Given the description of an element on the screen output the (x, y) to click on. 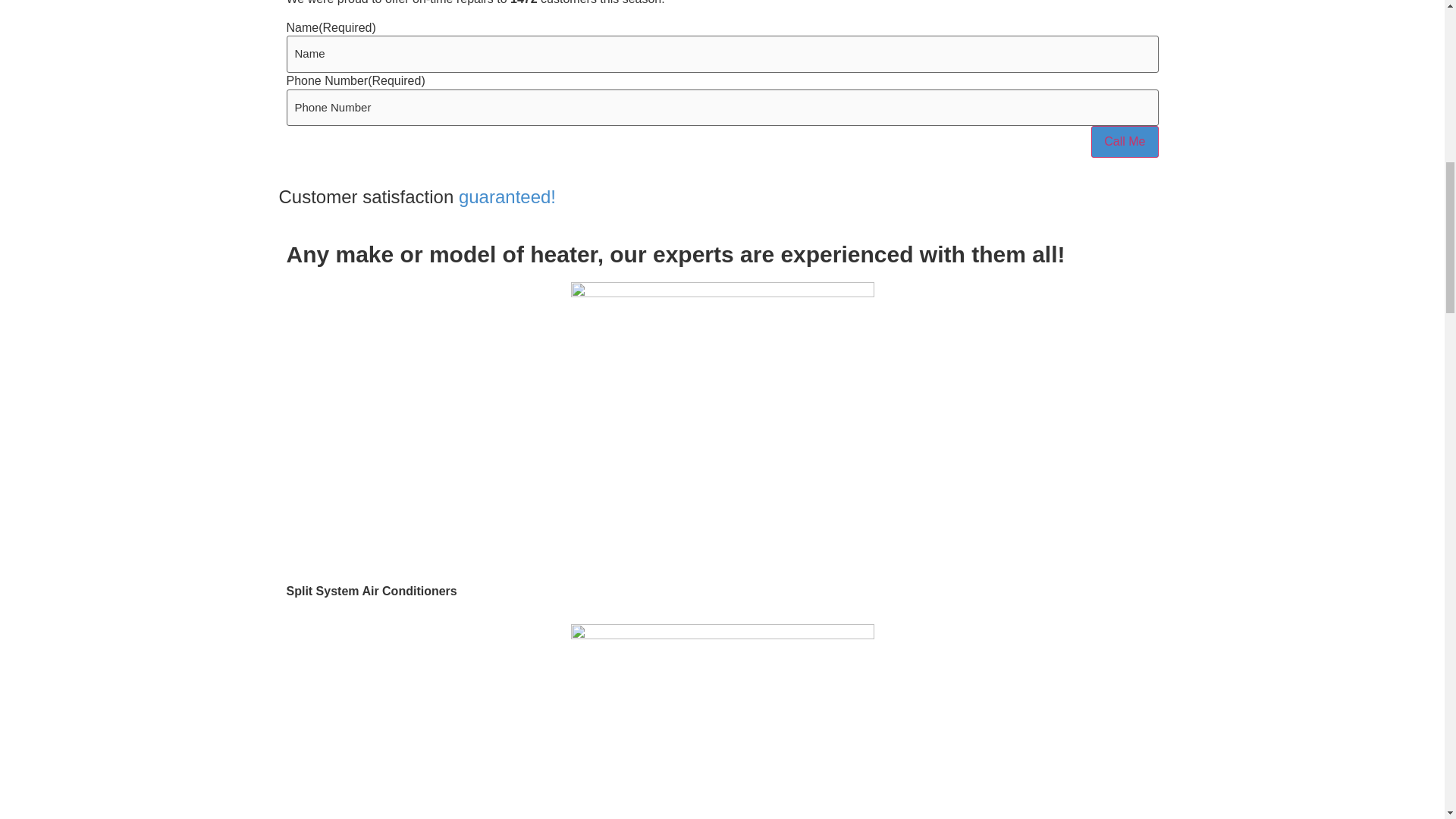
Split System Air Conditioners (371, 590)
guaranteed! (507, 196)
Call Me (1123, 142)
Call Me (1123, 142)
